Given the description of an element on the screen output the (x, y) to click on. 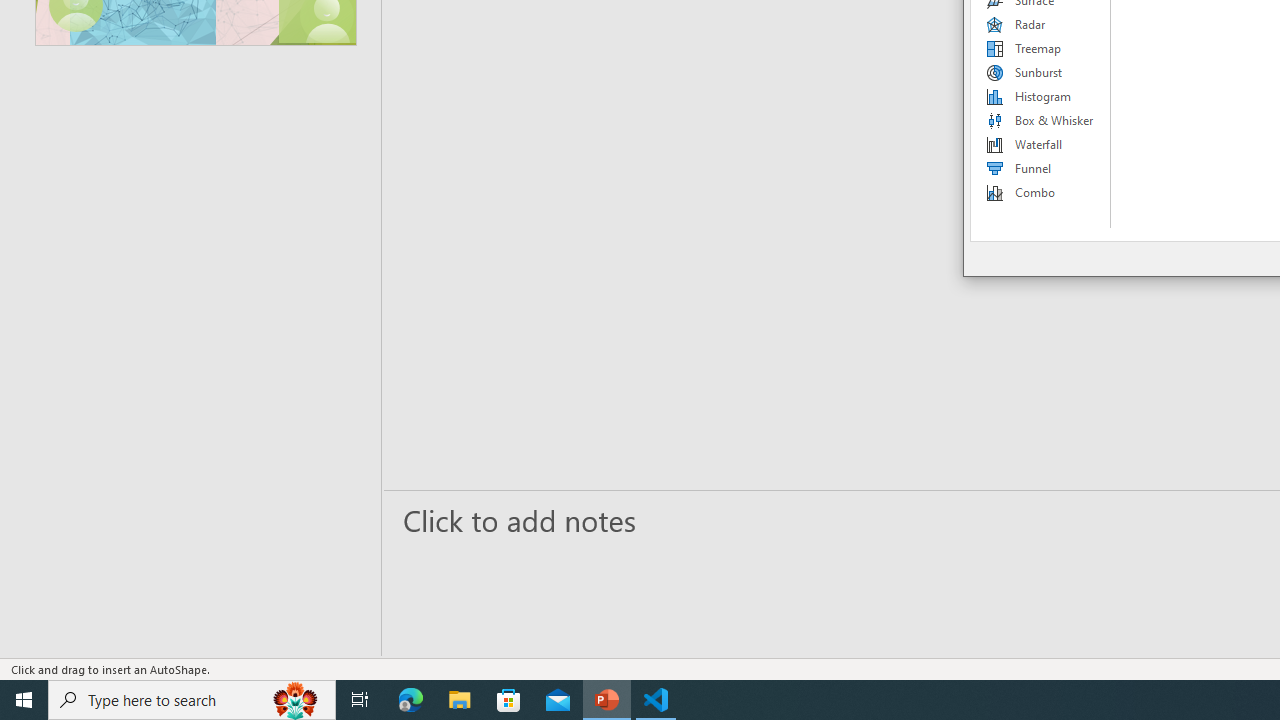
Funnel (1041, 168)
Radar (1041, 24)
Waterfall (1041, 144)
Histogram (1041, 96)
Combo (1041, 192)
Sunburst (1041, 72)
Treemap (1041, 48)
